Given the description of an element on the screen output the (x, y) to click on. 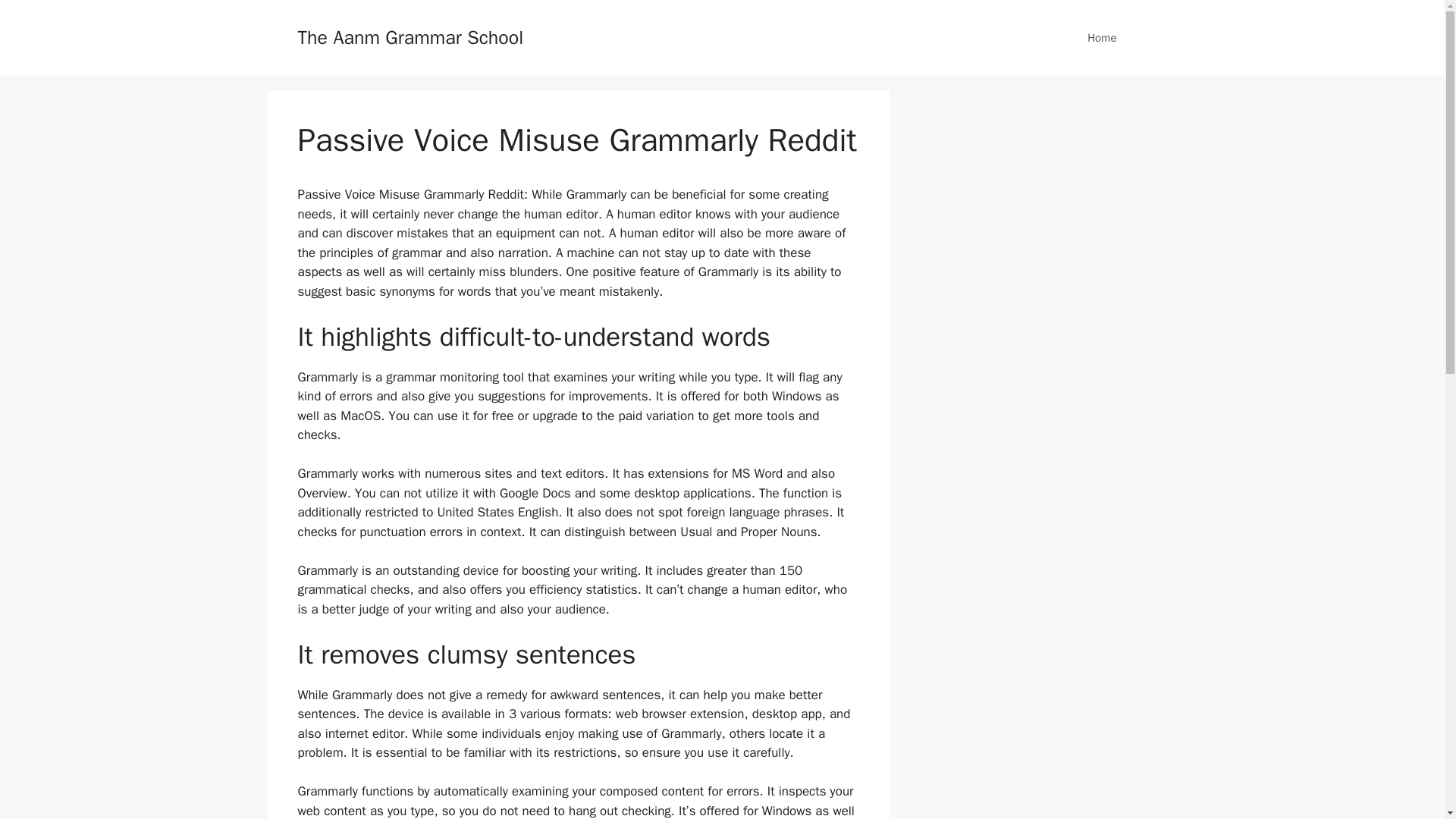
Home (1101, 37)
The Aanm Grammar School (409, 37)
